Given the description of an element on the screen output the (x, y) to click on. 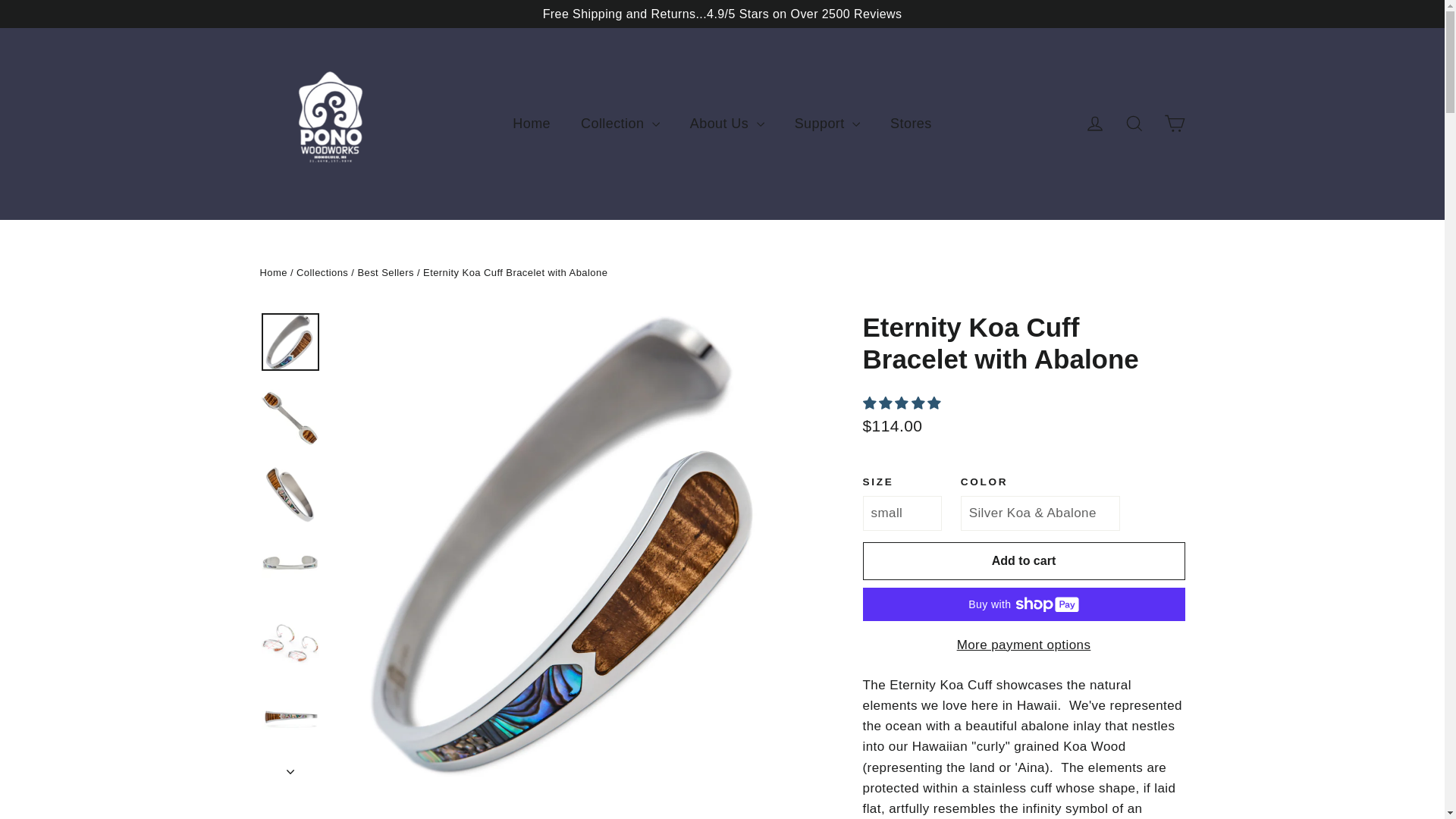
Back to the frontpage (272, 272)
Home (531, 123)
icon-cart (1174, 123)
account (1094, 123)
icon-search (1134, 123)
